Given the description of an element on the screen output the (x, y) to click on. 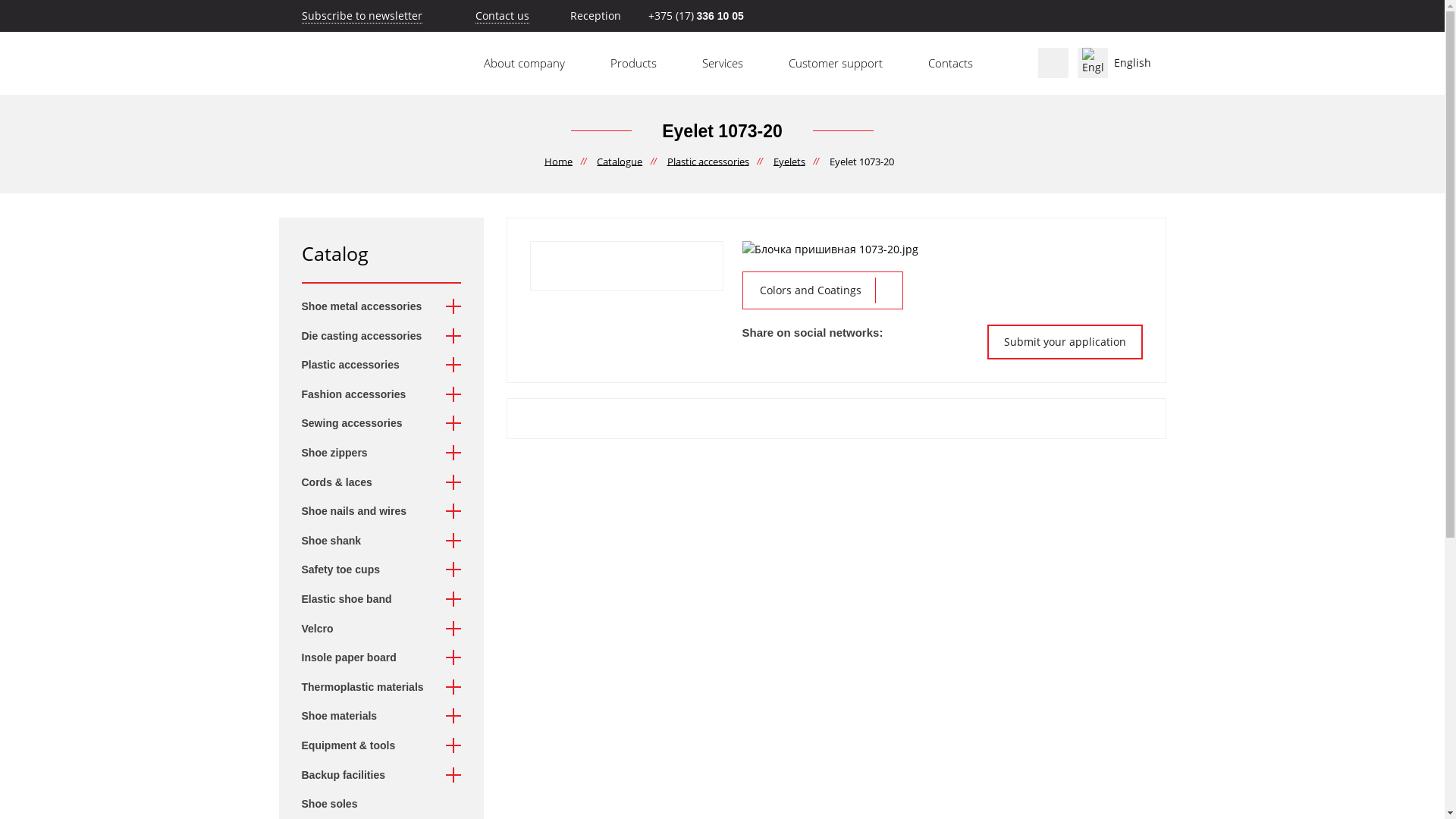
Contact us Element type: text (501, 14)
Colors and Coatings Element type: text (821, 290)
Plastic accessories Element type: text (359, 365)
Cords & laces Element type: text (345, 482)
Subscribe to newsletter Element type: text (350, 14)
+375 (17) 336 10 05 Element type: text (695, 15)
About company Element type: text (523, 62)
Services Element type: text (722, 62)
Shoe nails and wires Element type: text (363, 511)
Submit your application Element type: text (1064, 341)
Die casting accessories Element type: text (370, 336)
Customer support Element type: text (835, 62)
Shoe materials Element type: text (348, 716)
Equipment & tools Element type: text (357, 745)
Elastic shoe band Element type: text (355, 599)
Insole paper board Element type: text (357, 657)
Sewing accessories Element type: text (360, 423)
Plastic accessories Element type: text (708, 161)
Shoe shank Element type: text (340, 541)
Velcro Element type: text (326, 629)
Fashion accessories Element type: text (362, 394)
Shoe soles Element type: text (338, 804)
Safety toe cups Element type: text (349, 569)
Backup facilities Element type: text (352, 775)
Contacts Element type: text (950, 62)
Catalogue Element type: text (619, 161)
Home Element type: text (558, 161)
Products Element type: text (632, 62)
Shoe metal accessories Element type: text (370, 306)
Shoe zippers Element type: text (343, 453)
Eyelets Element type: text (789, 161)
Thermoplastic materials Element type: text (371, 687)
